Given the description of an element on the screen output the (x, y) to click on. 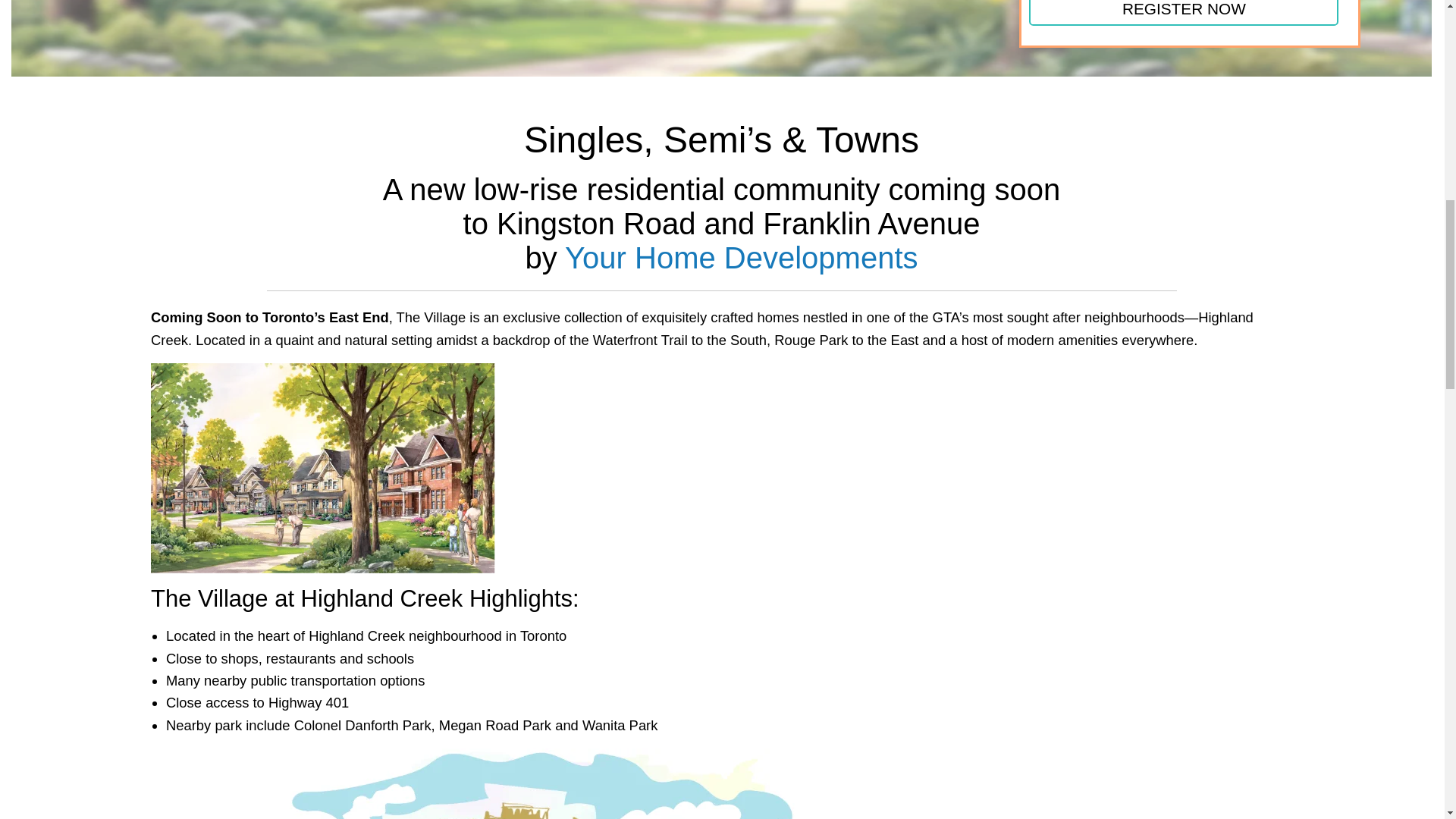
Register Now (1183, 12)
Your Home Developments (740, 257)
Register Now (1183, 12)
